Given the description of an element on the screen output the (x, y) to click on. 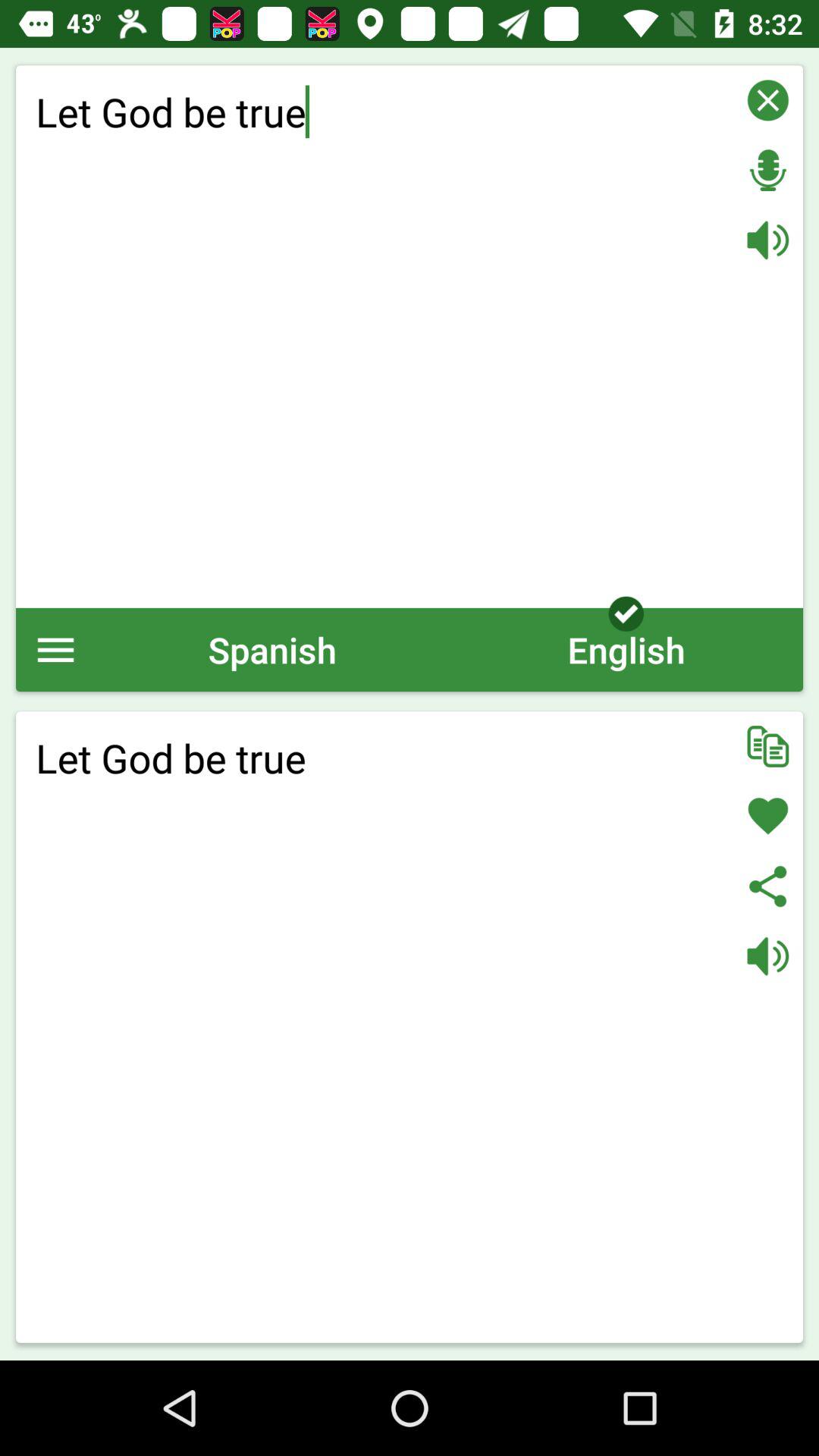
tap the icon to the right of spanish icon (626, 649)
